Given the description of an element on the screen output the (x, y) to click on. 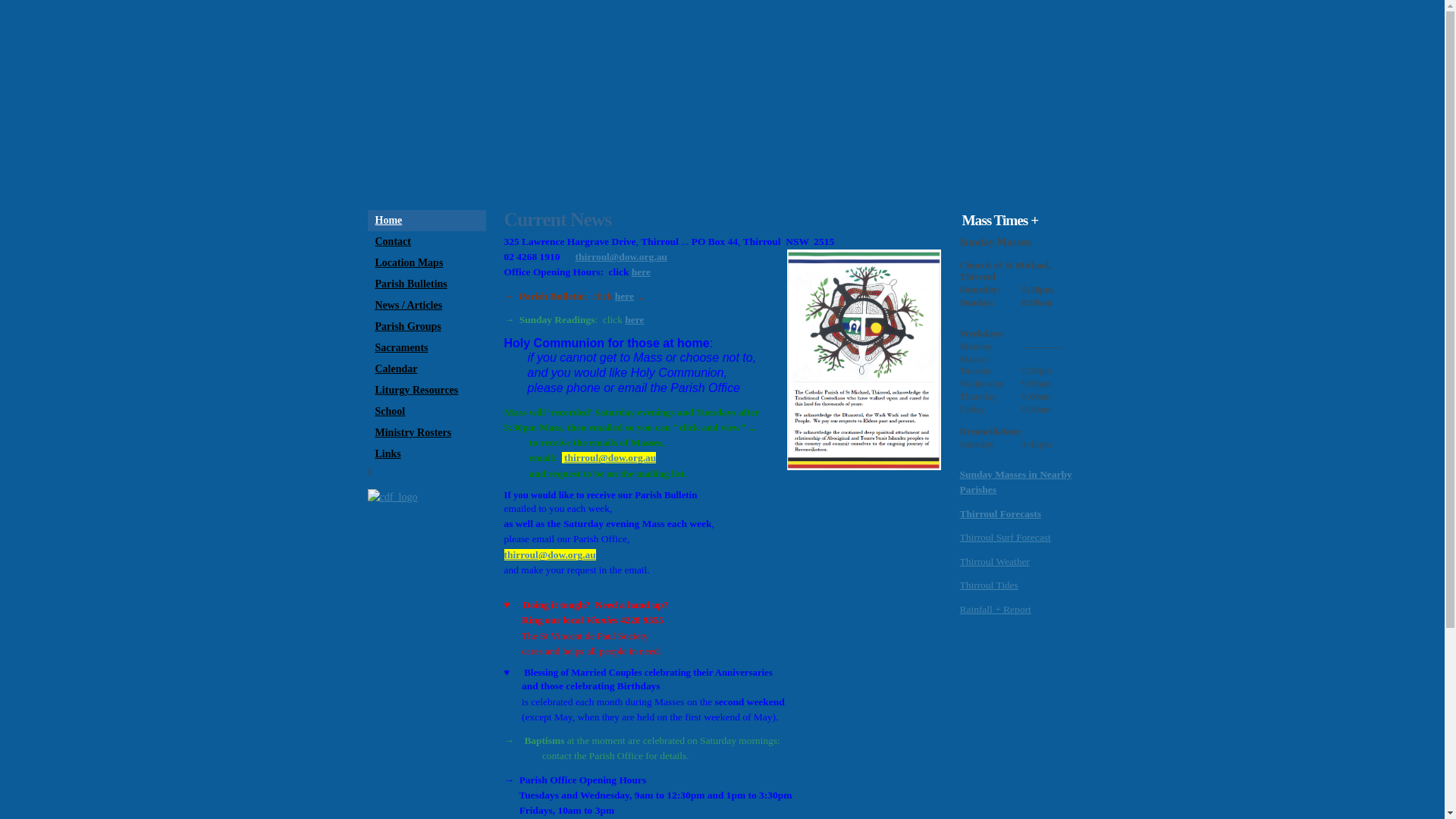
Thirroul Forecasts Element type: text (1000, 513)
Location Maps Element type: text (426, 262)
Thirroul Tides Element type: text (989, 584)
here Element type: text (624, 295)
Ministry Rosters Element type: text (426, 432)
News / Articles Element type: text (426, 305)
Sunday Masses in Nearby Parishes Element type: text (1016, 481)
Calendar Element type: text (426, 368)
Contact Element type: text (426, 241)
here Element type: text (640, 271)
Parish Bulletins Element type: text (426, 283)
Thirroul Surf Forecast Element type: text (1005, 536)
thirroul@dow.org.au Element type: text (549, 554)
School Element type: text (426, 411)
Rainfall + Report Element type: text (995, 609)
Parish of St Michael | Thirroul and Wombarra Element type: text (721, 101)
thirroul@dow.org.au Element type: text (621, 256)
Home Element type: text (426, 220)
Thirroul Weather Element type: text (994, 561)
Parish Groups Element type: text (426, 326)
thirroul@dow.org.au Element type: text (609, 457)
Liturgy Resources Element type: text (426, 390)
here Element type: text (633, 319)
Sacraments Element type: text (426, 347)
Links Element type: text (426, 453)
